Given the description of an element on the screen output the (x, y) to click on. 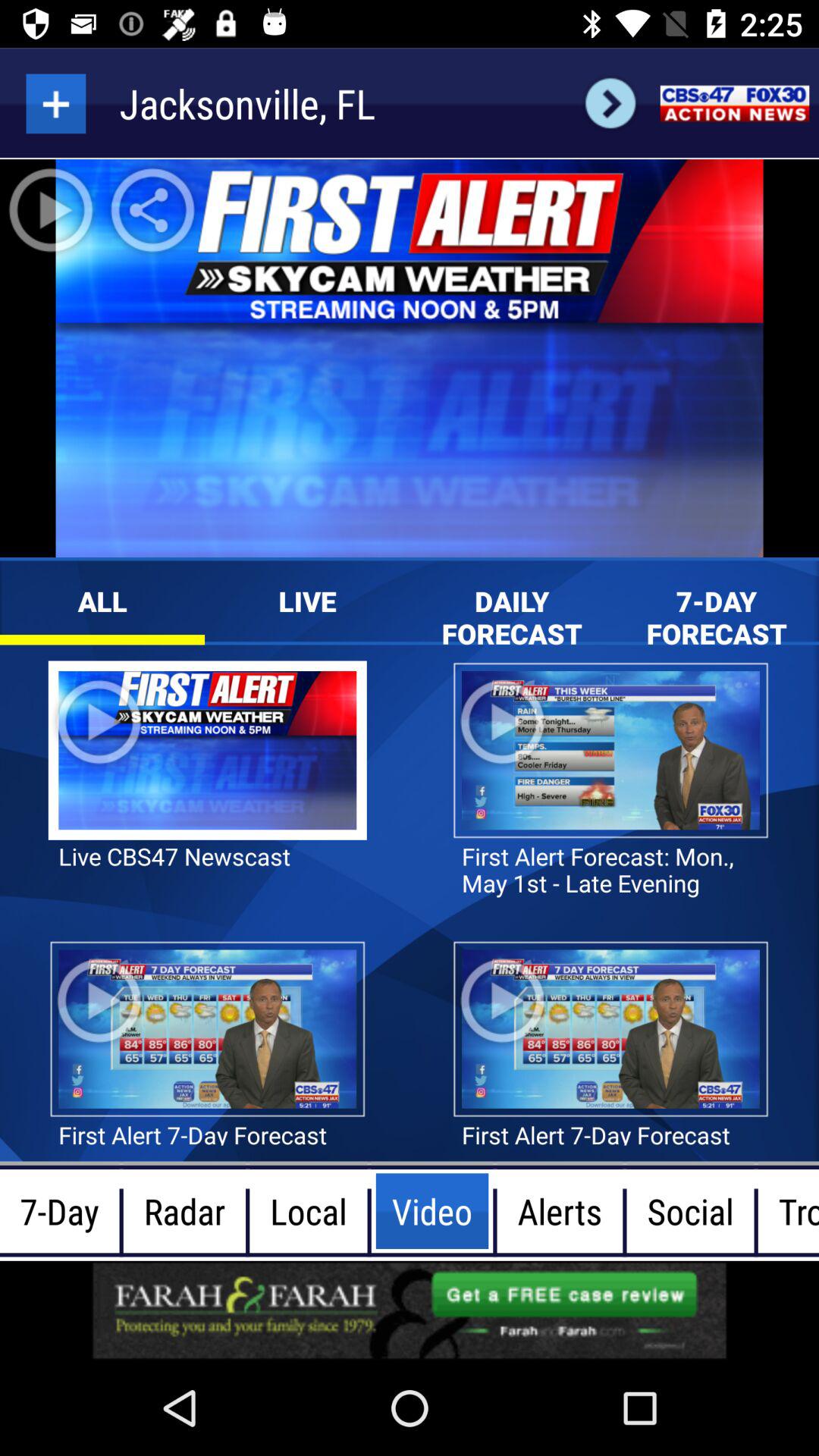
homepage (734, 103)
